Given the description of an element on the screen output the (x, y) to click on. 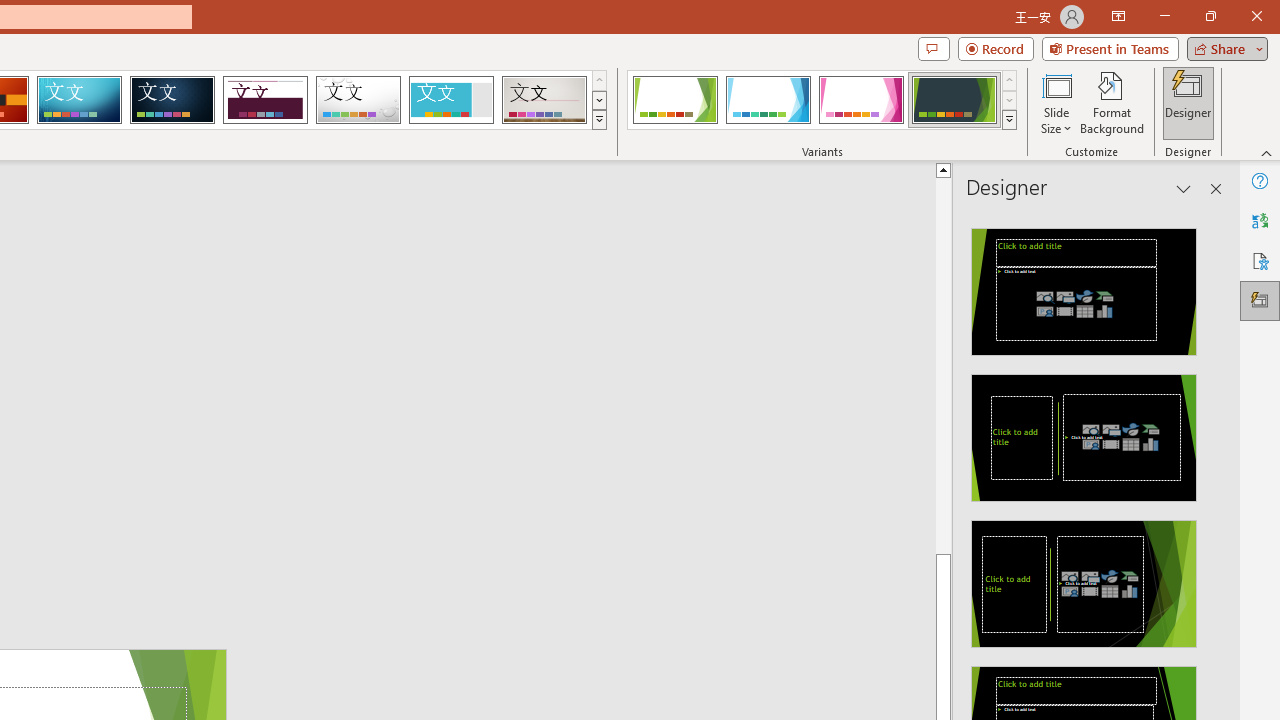
Variants (1009, 120)
Facet Variant 1 (674, 100)
Themes (598, 120)
Format Background (1111, 102)
Frame (450, 100)
Recommended Design: Design Idea (1083, 286)
Slide Size (1056, 102)
